Given the description of an element on the screen output the (x, y) to click on. 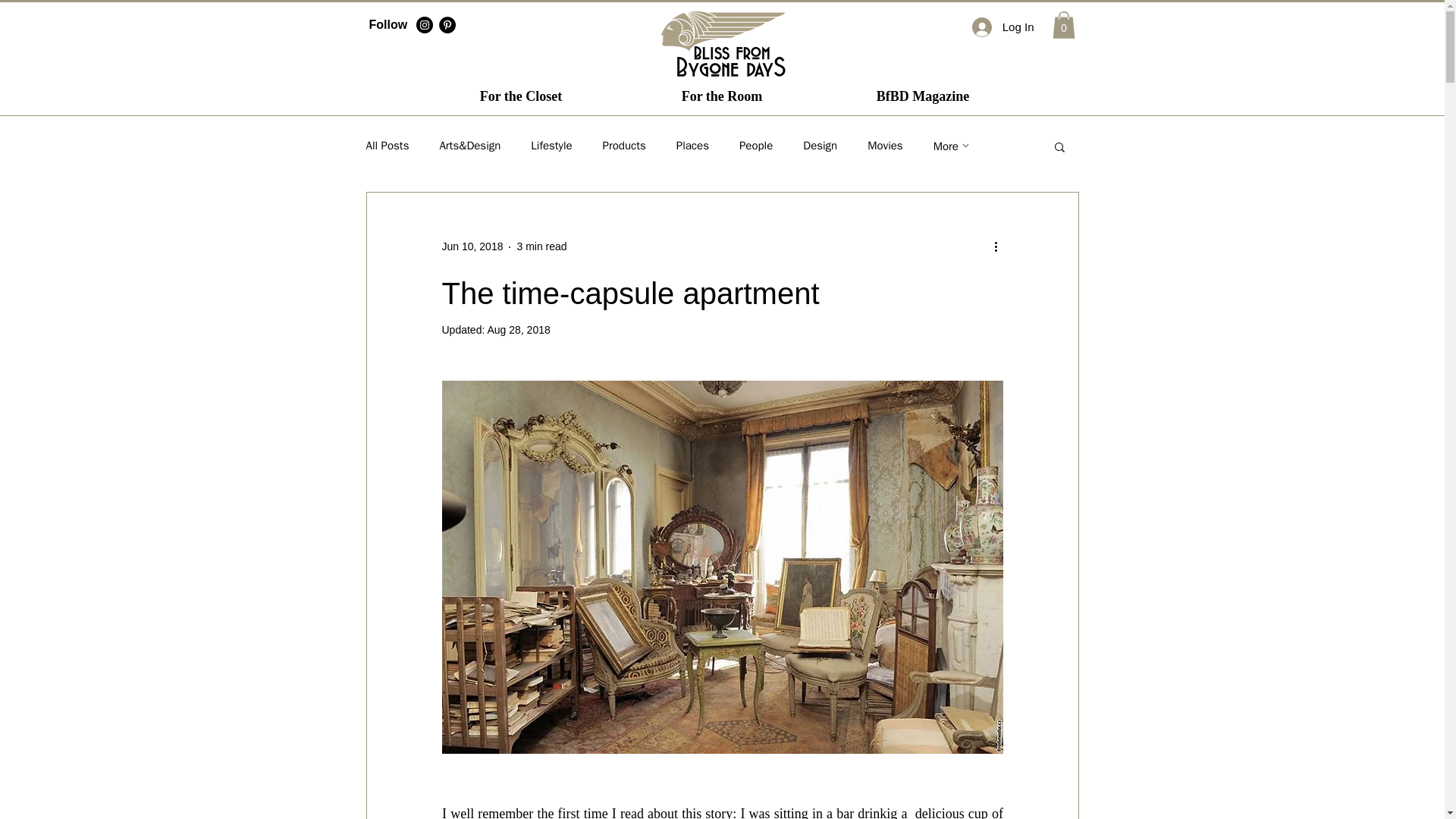
BfBD Logo (722, 43)
People (756, 145)
Movies (884, 145)
For the Closet (520, 96)
Aug 28, 2018 (518, 329)
Design (820, 145)
Products (624, 145)
All Posts (387, 145)
Places (693, 145)
Jun 10, 2018 (471, 246)
3 min read (541, 246)
BfBD Magazine (922, 96)
Log In (1002, 26)
Lifestyle (551, 145)
For the Room (721, 96)
